Given the description of an element on the screen output the (x, y) to click on. 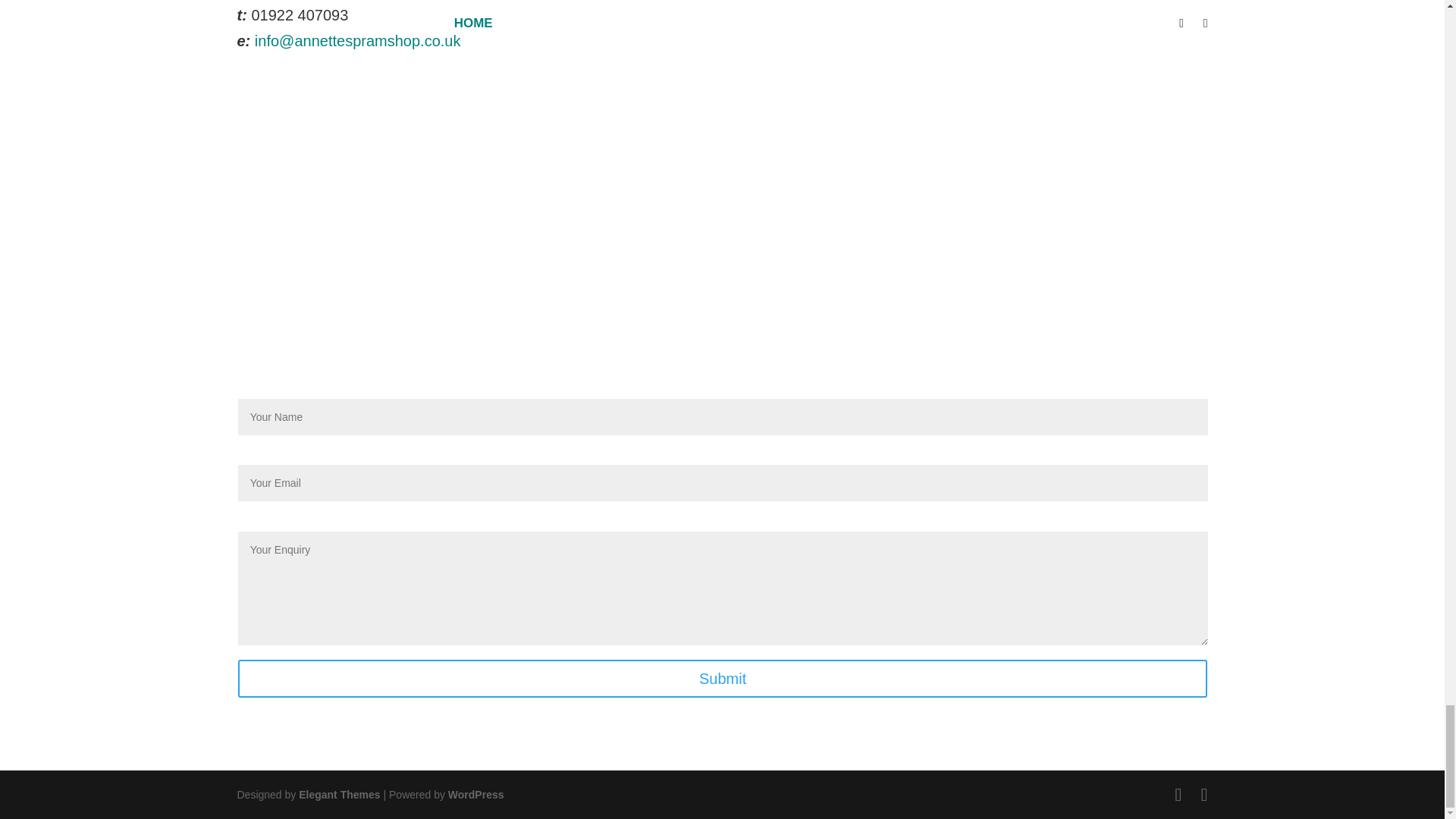
Elegant Themes (339, 794)
Premium WordPress Themes (339, 794)
Submit (723, 678)
WordPress (475, 794)
